Given the description of an element on the screen output the (x, y) to click on. 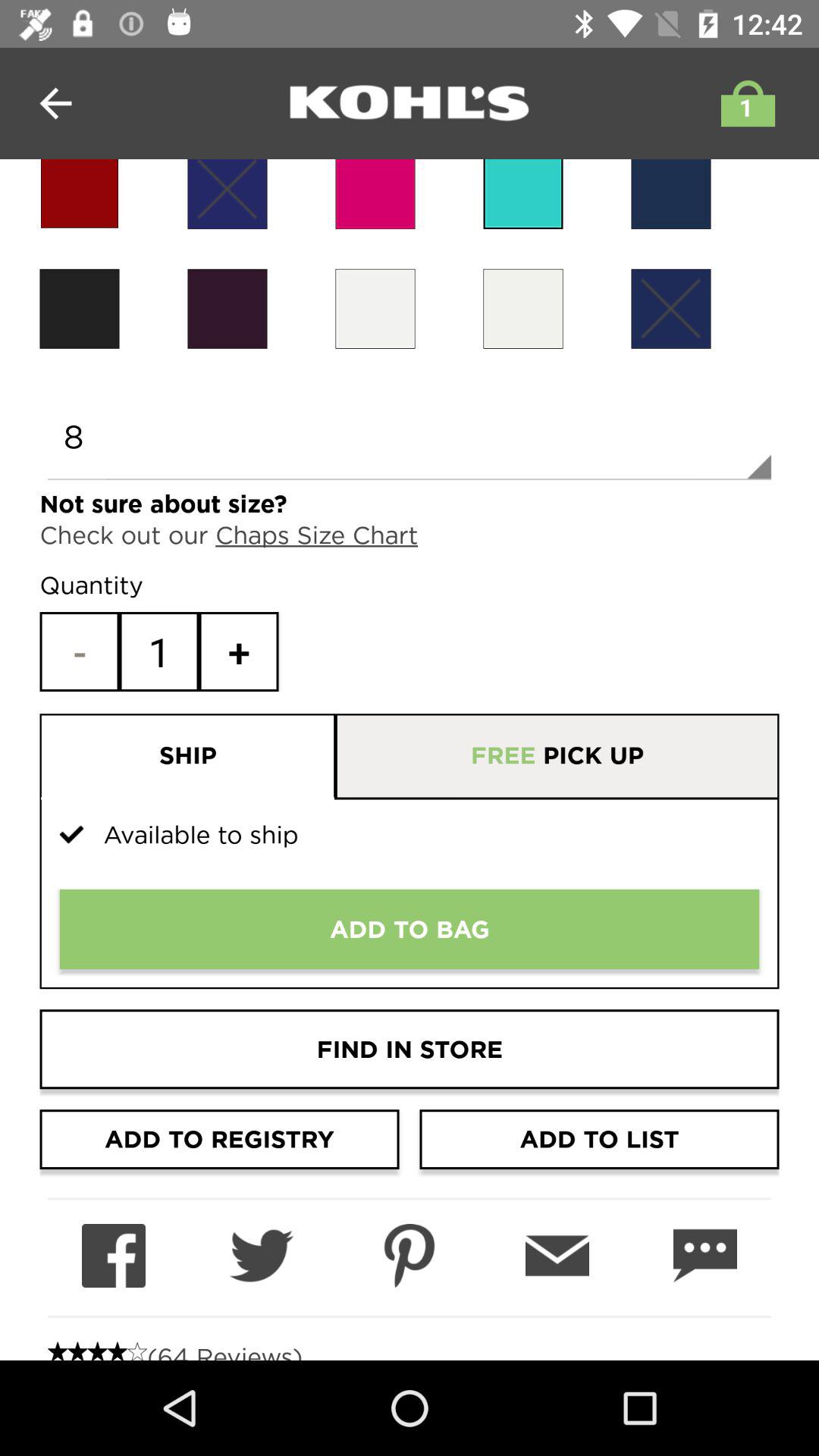
email kohls (557, 1255)
